Given the description of an element on the screen output the (x, y) to click on. 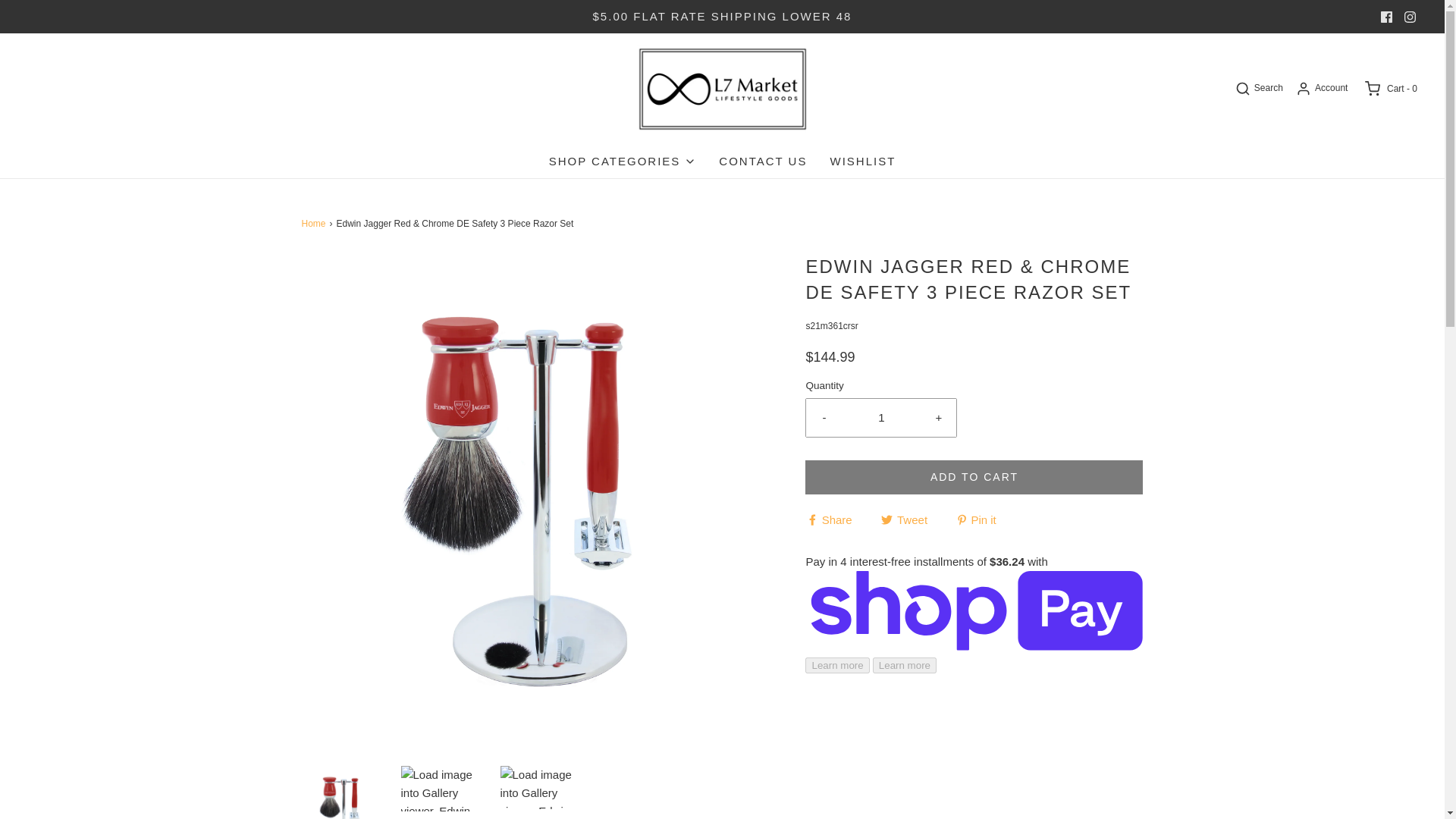
FACEBOOK ICON (1385, 15)
FACEBOOK ICON (1385, 16)
1 (881, 417)
Search (1257, 88)
INSTAGRAM ICON (1410, 16)
Cart (1390, 88)
INSTAGRAM ICON (1409, 15)
Log in (1321, 88)
Back to the frontpage (315, 223)
